Given the description of an element on the screen output the (x, y) to click on. 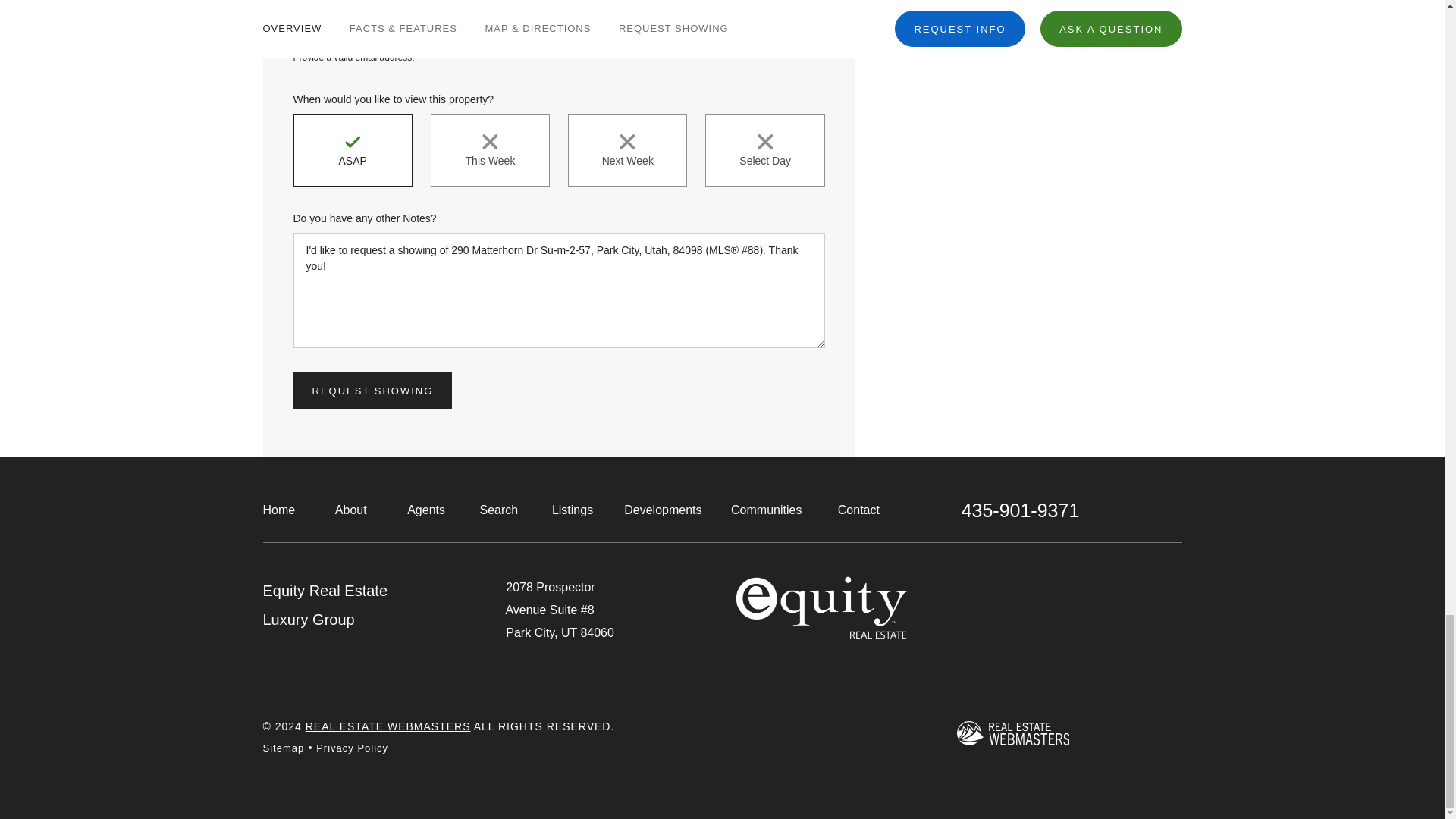
ASAP (352, 149)
Next Week (627, 149)
This Week (490, 149)
